Given the description of an element on the screen output the (x, y) to click on. 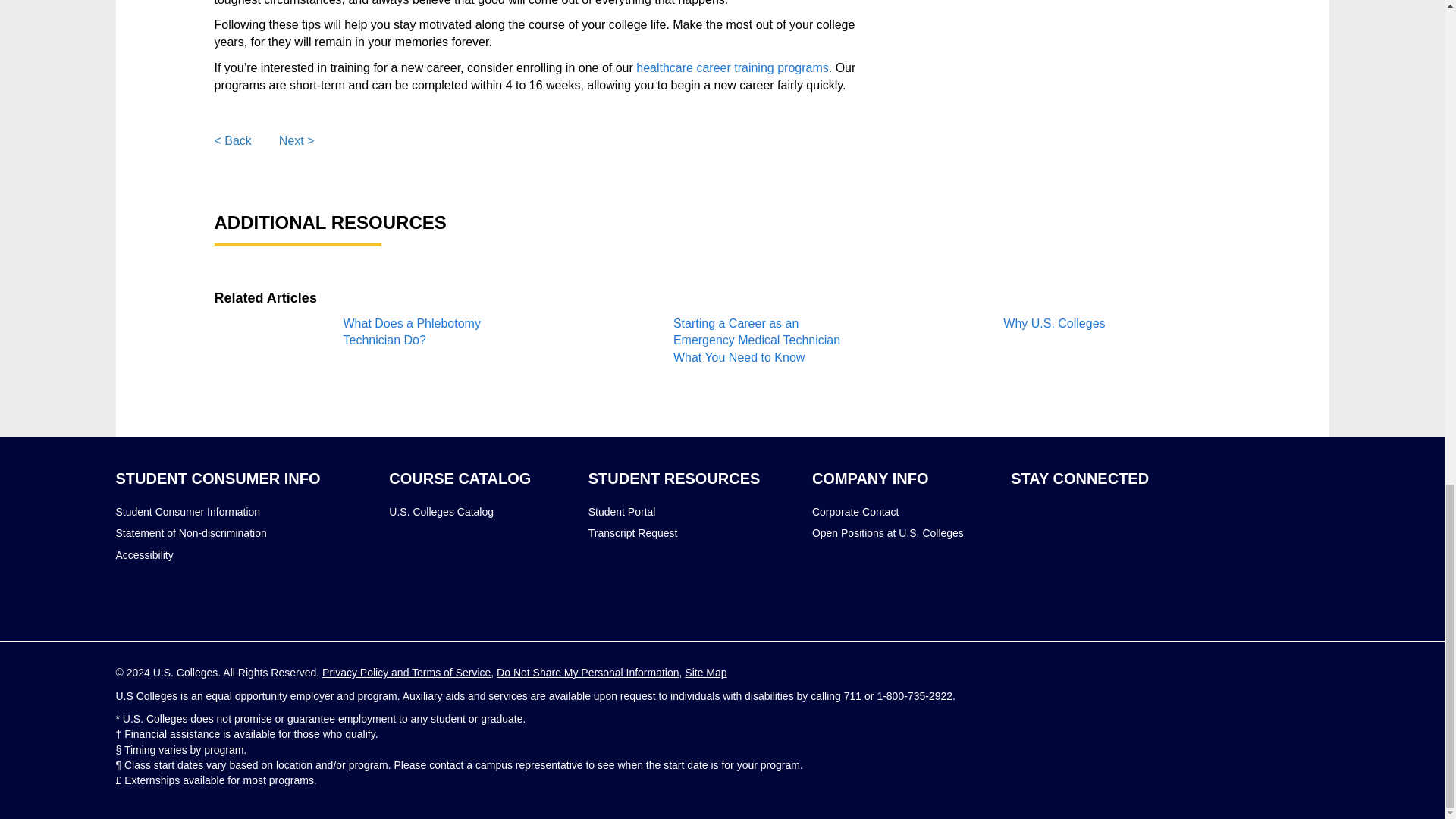
Stay Connected (1079, 478)
U.S. College (1098, 551)
